Given the description of an element on the screen output the (x, y) to click on. 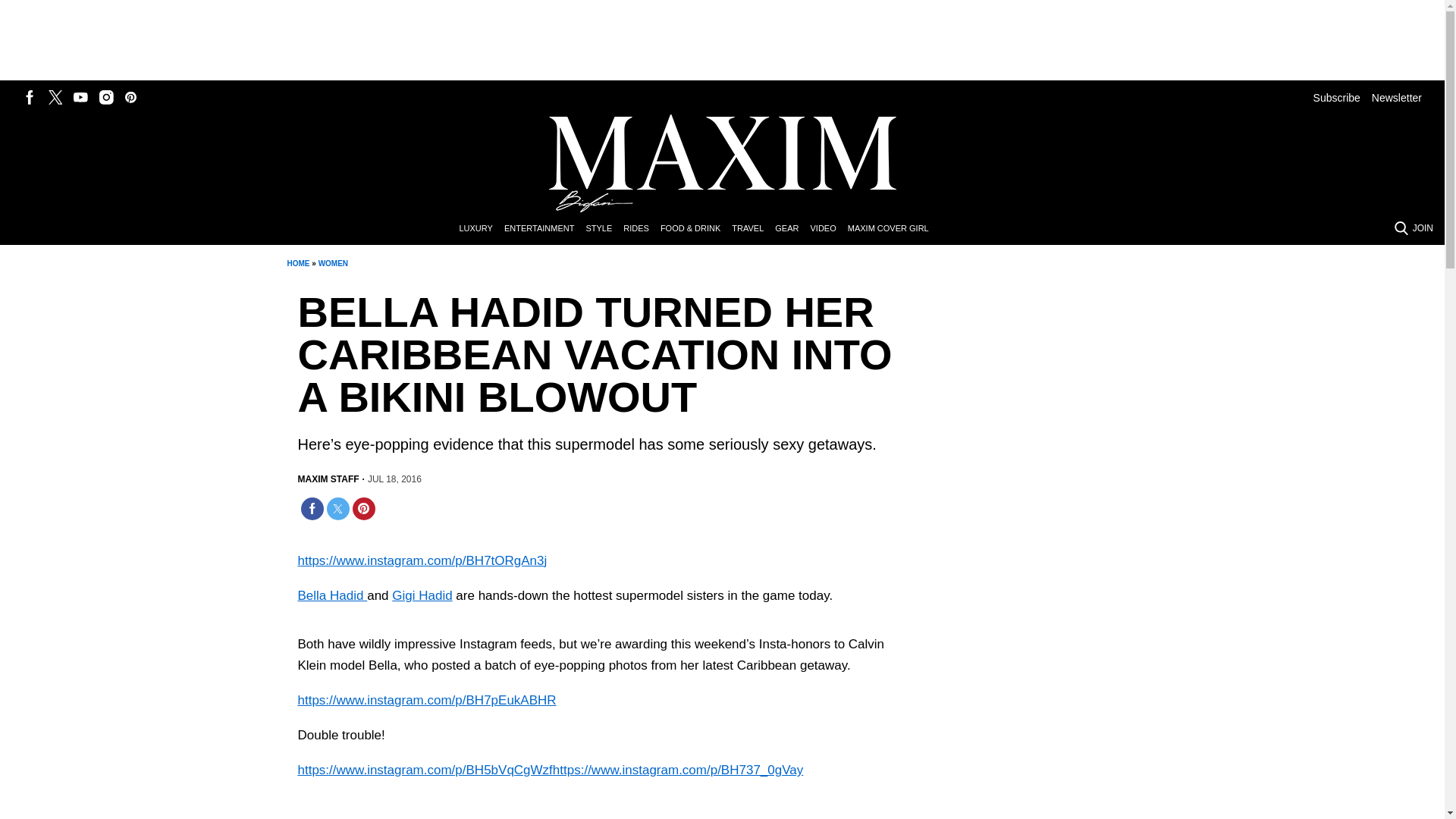
Subscribe (1336, 97)
LUXURY (480, 228)
VIDEO (828, 228)
TRAVEL (753, 228)
STYLE (604, 228)
Follow us on Instagram (106, 97)
MAXIM STAFF (327, 479)
Follow us on Facebook (30, 97)
HOME (297, 263)
Share on Twitter (337, 508)
MAXIM COVER GIRL (893, 228)
JOIN (1422, 228)
Newsletter (1396, 97)
GEAR (791, 228)
Share on Facebook (311, 508)
